Given the description of an element on the screen output the (x, y) to click on. 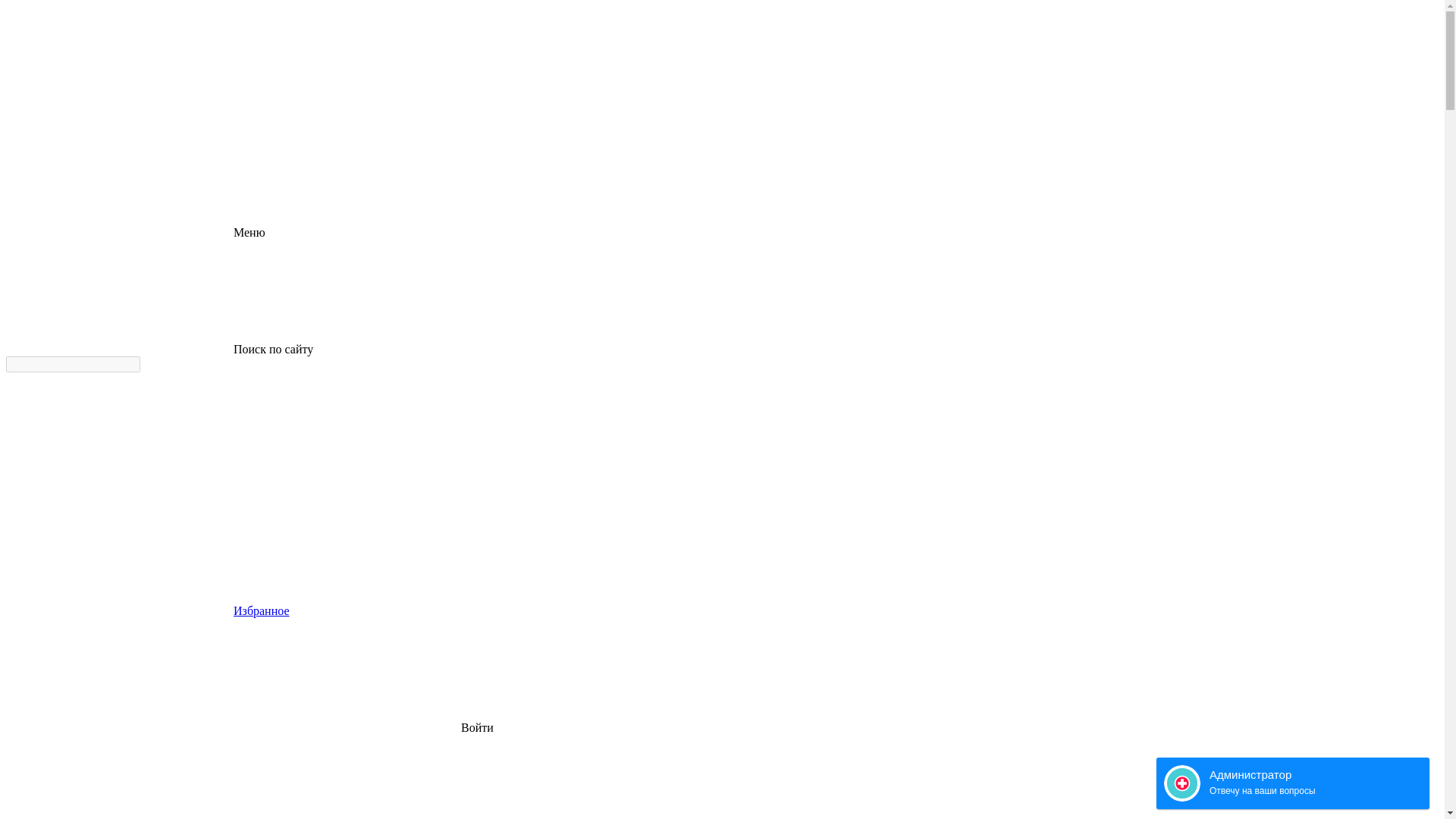
logo Element type: hover (119, 115)
logo Element type: hover (119, 62)
